Given the description of an element on the screen output the (x, y) to click on. 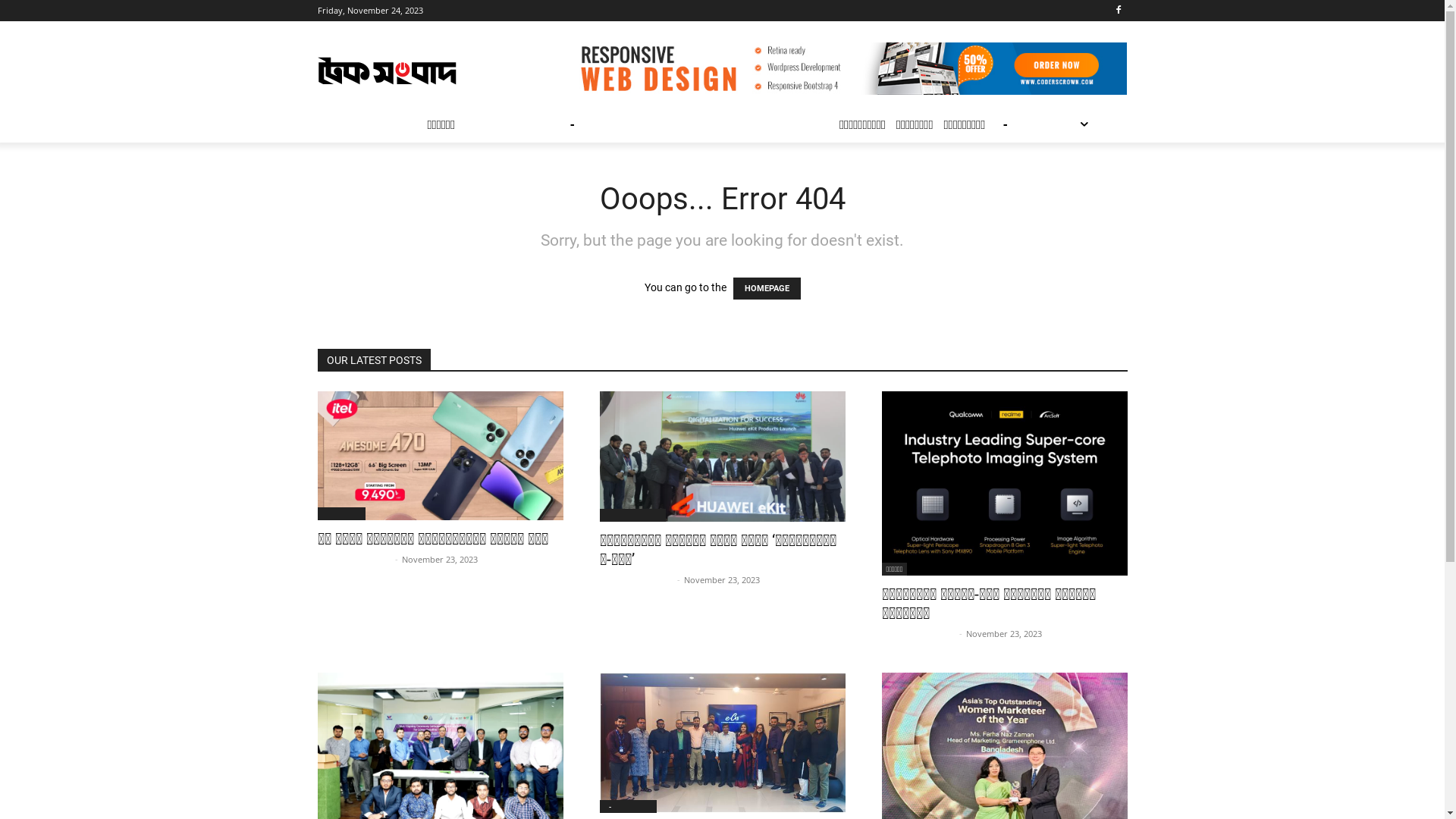
Facebook Element type: hover (1118, 9)
HOMEPAGE Element type: text (766, 288)
